Given the description of an element on the screen output the (x, y) to click on. 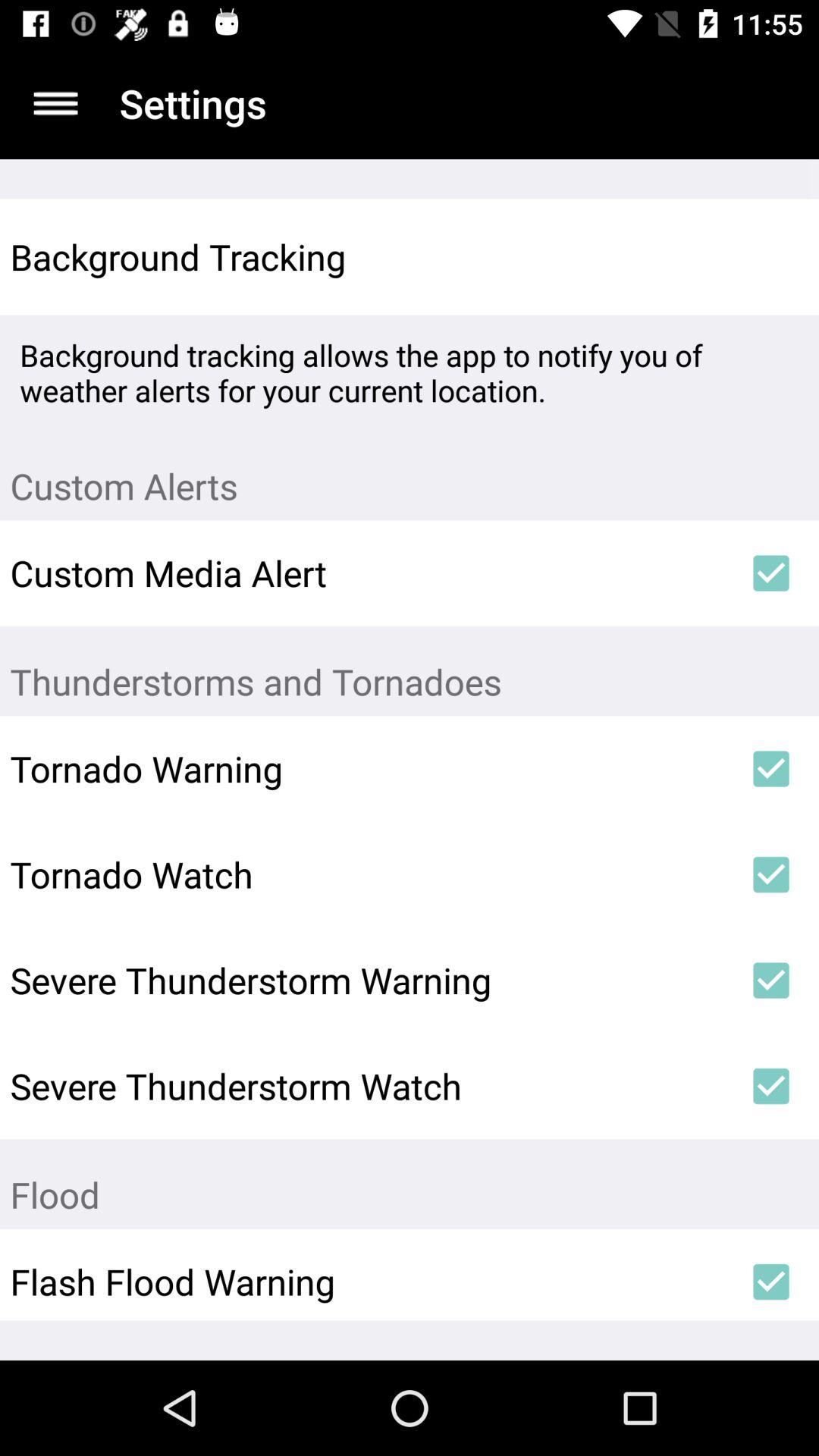
press icon next to tornado watch (771, 874)
